Given the description of an element on the screen output the (x, y) to click on. 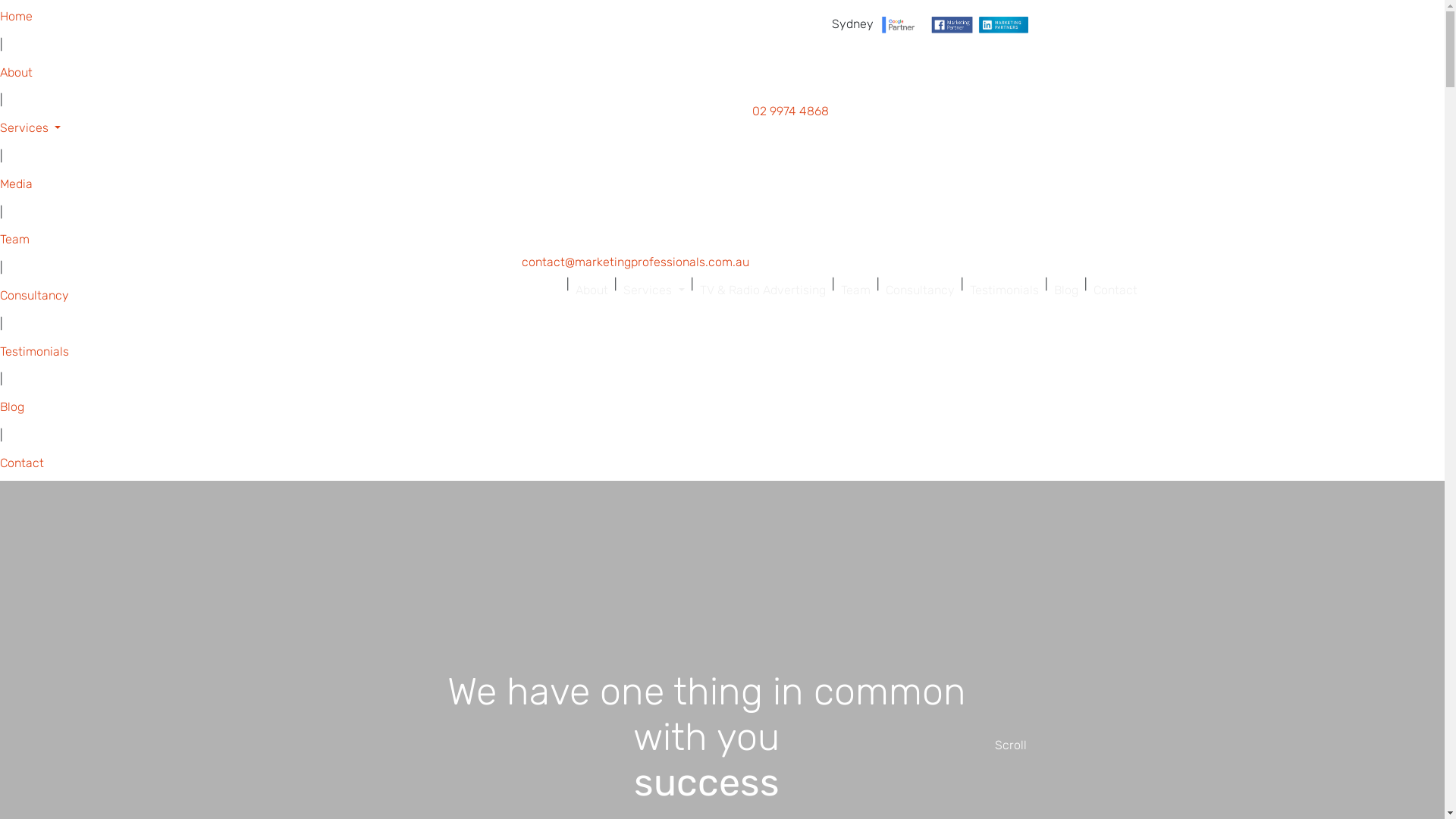
Team Element type: text (854, 290)
Blog Element type: text (1066, 290)
Home Element type: text (543, 290)
Team Element type: text (722, 239)
Testimonials Element type: text (1003, 290)
Home Element type: text (722, 17)
Consultancy Element type: text (919, 290)
Services Element type: text (653, 290)
Contact Element type: text (1115, 290)
Contact Element type: text (722, 463)
Testimonials Element type: text (722, 352)
TV & Radio Advertising Element type: text (762, 290)
About Element type: text (722, 73)
Media Element type: text (722, 184)
Scroll Element type: text (1010, 745)
Services Element type: text (722, 128)
Consultancy Element type: text (722, 296)
Blog Element type: text (722, 407)
About Element type: text (591, 290)
